Given the description of an element on the screen output the (x, y) to click on. 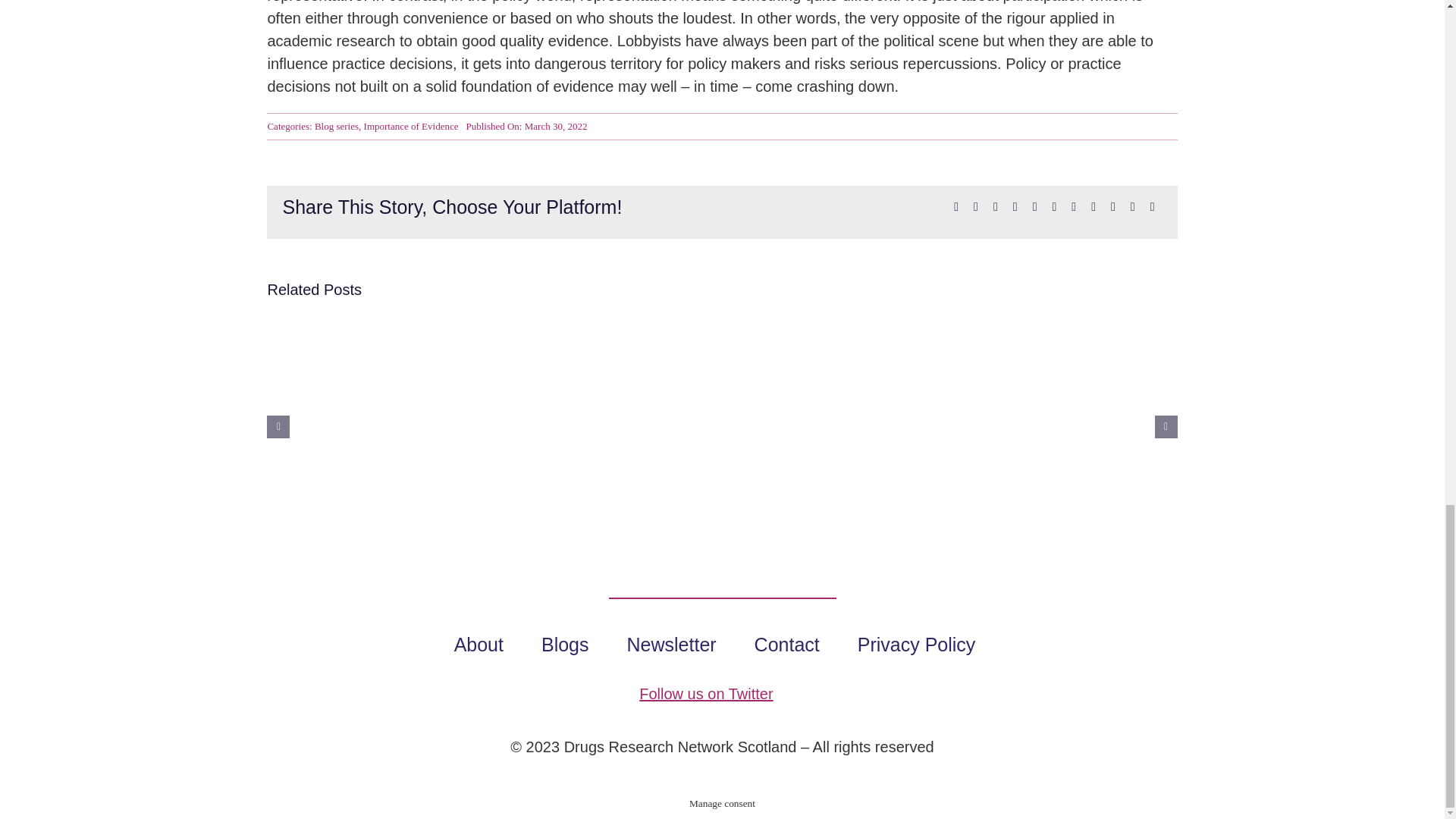
Importance of Evidence (411, 125)
Blog series (336, 125)
